Given the description of an element on the screen output the (x, y) to click on. 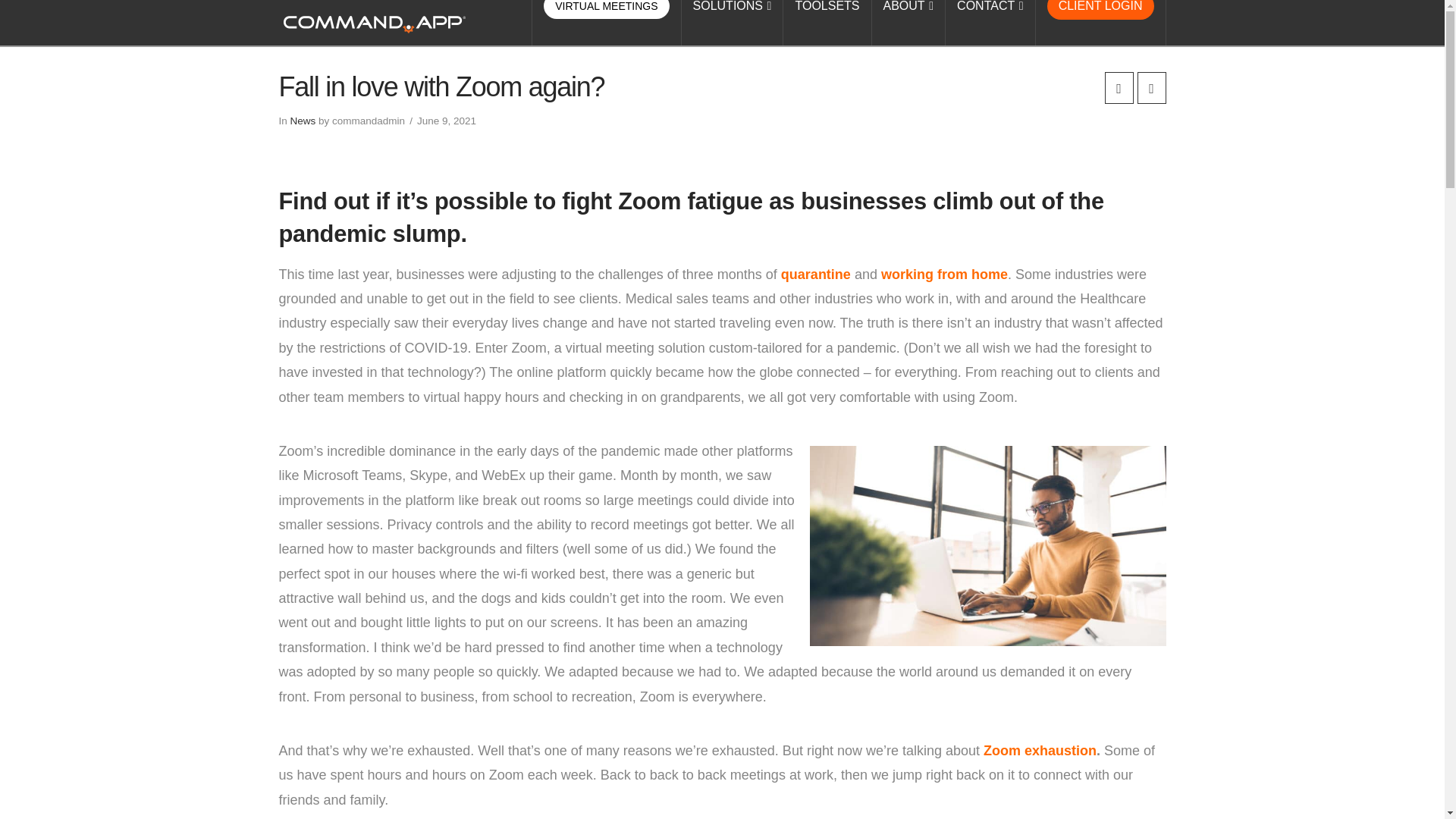
CLIENT LOGIN (1100, 22)
TOOLSETS (826, 22)
ABOUT (909, 22)
SOLUTIONS (732, 22)
CONTACT (989, 22)
VIRTUAL MEETINGS (606, 22)
